Given the description of an element on the screen output the (x, y) to click on. 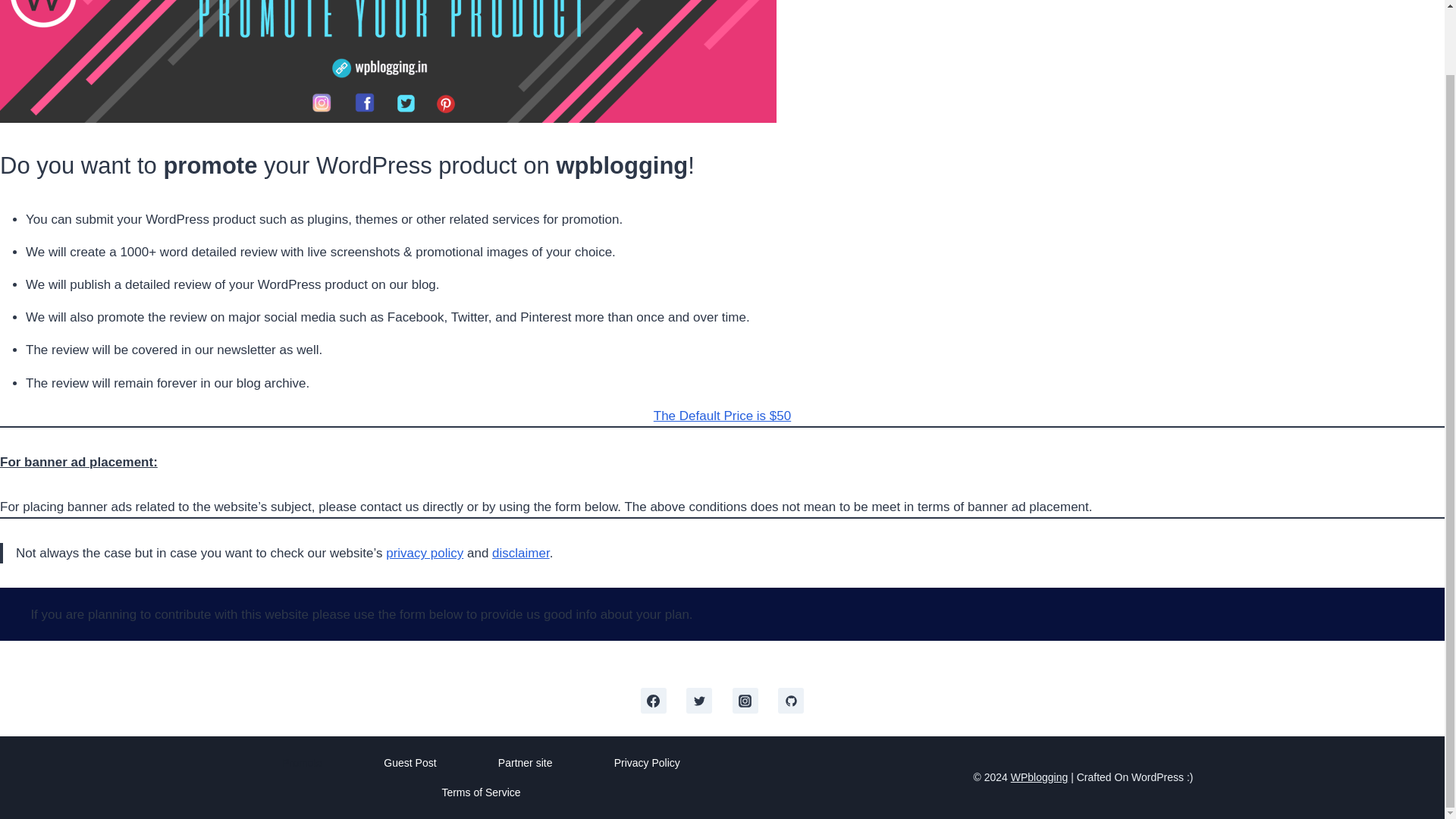
WPblogging (1039, 776)
disclaimer (521, 553)
Guest Post (410, 762)
privacy policy (424, 553)
Promotion - Boost Your Product Sale With Us 1 (388, 61)
Terms of Service (480, 791)
Partner site (524, 762)
Promote (302, 762)
Privacy Policy (646, 762)
